Given the description of an element on the screen output the (x, y) to click on. 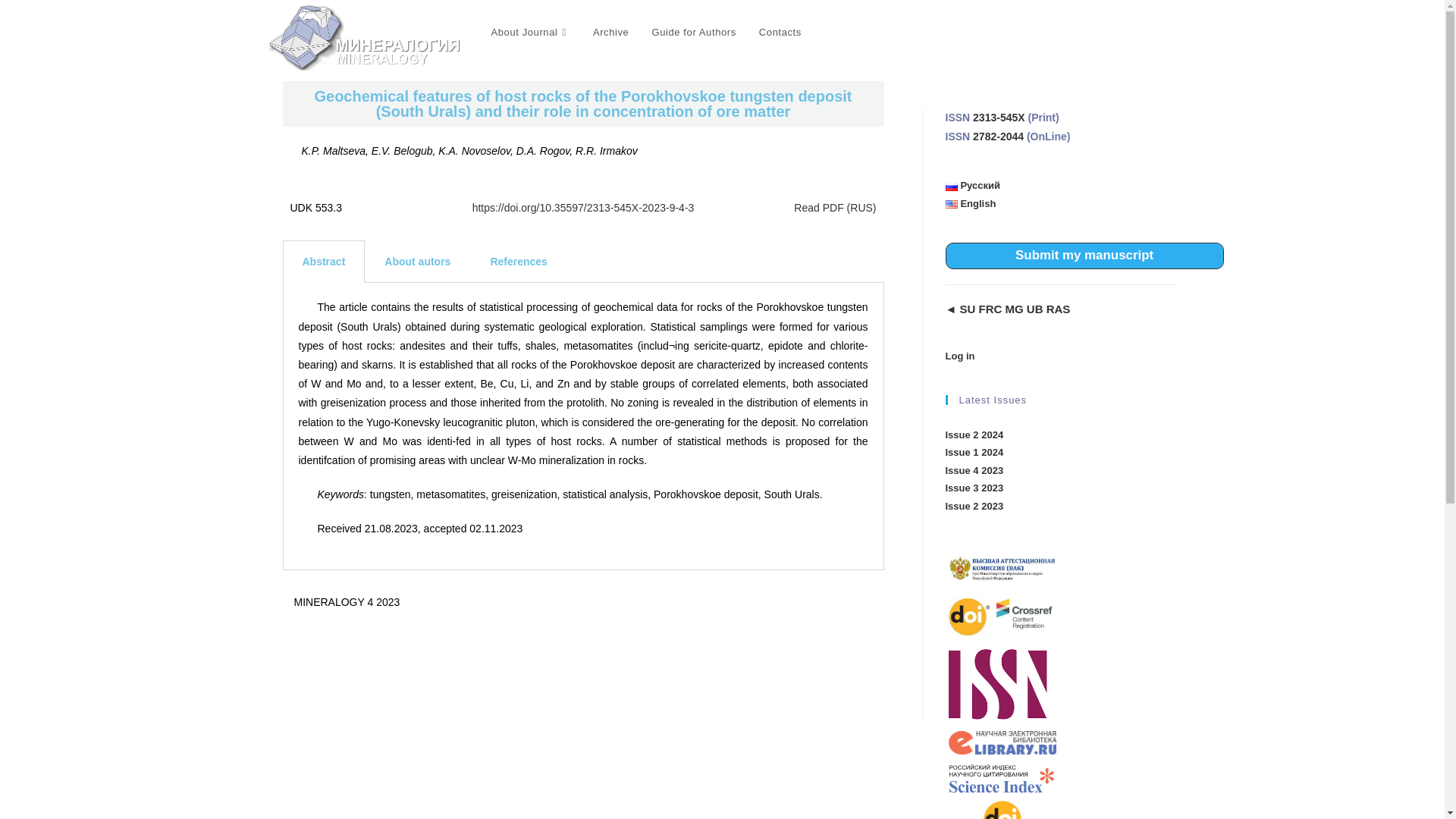
Issue 1 2024 (973, 451)
About Journal (529, 32)
Log in (959, 355)
Issue 2 2023 (973, 505)
2313-545X (998, 117)
Issue 3 2023 (973, 487)
Guide for Authors (693, 32)
Archive (610, 32)
Issue 4 2023 (973, 470)
2782-2044 (997, 136)
Issue 2 2024 (973, 434)
Submit my manuscript (1083, 255)
English (969, 203)
Contacts (780, 32)
Submit my manuscript (1083, 255)
